Given the description of an element on the screen output the (x, y) to click on. 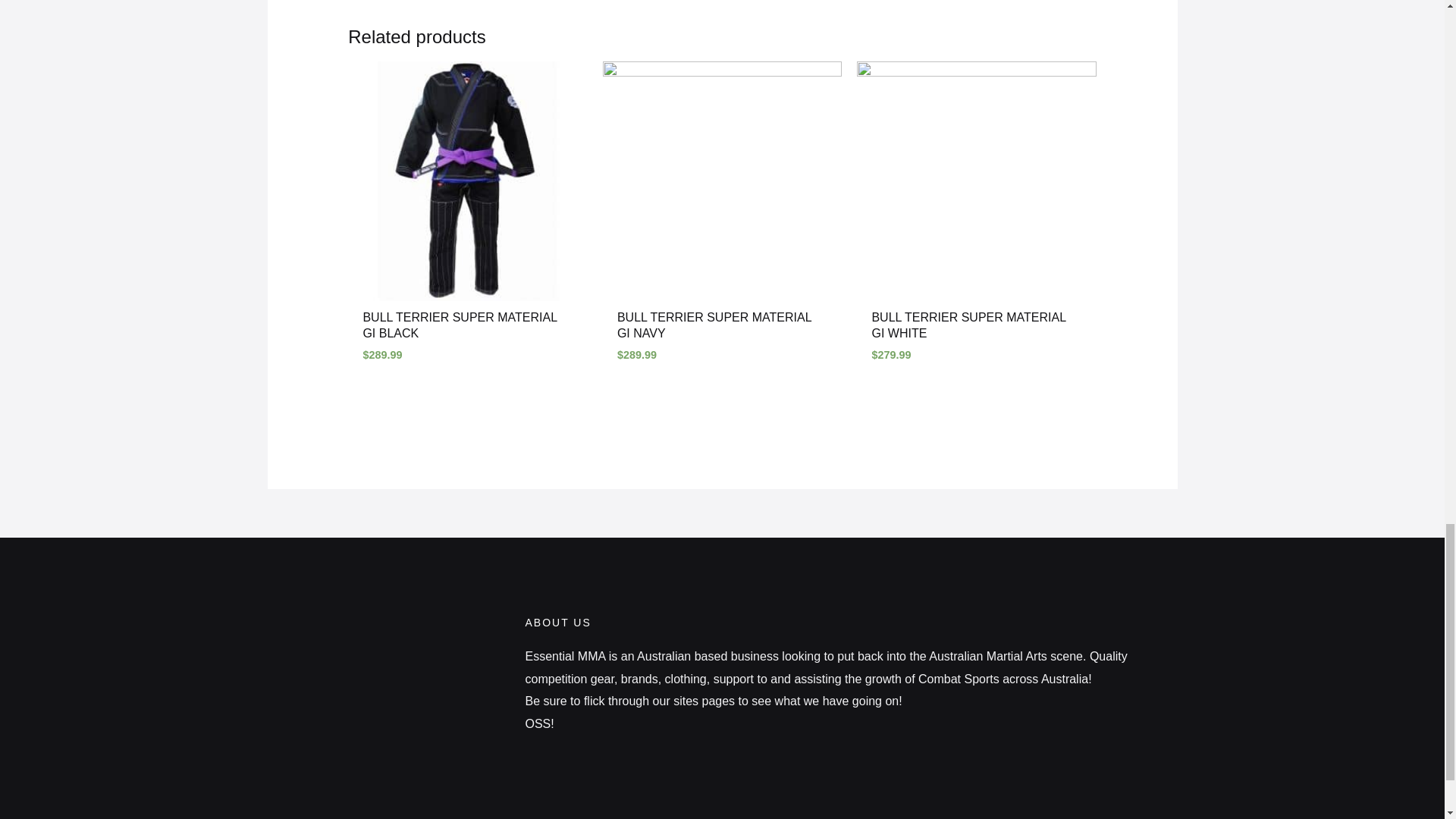
BULL TERRIER SUPER MATERIAL GI NAVY (722, 329)
BULL TERRIER SUPER MATERIAL GI BLACK (467, 329)
